Given the description of an element on the screen output the (x, y) to click on. 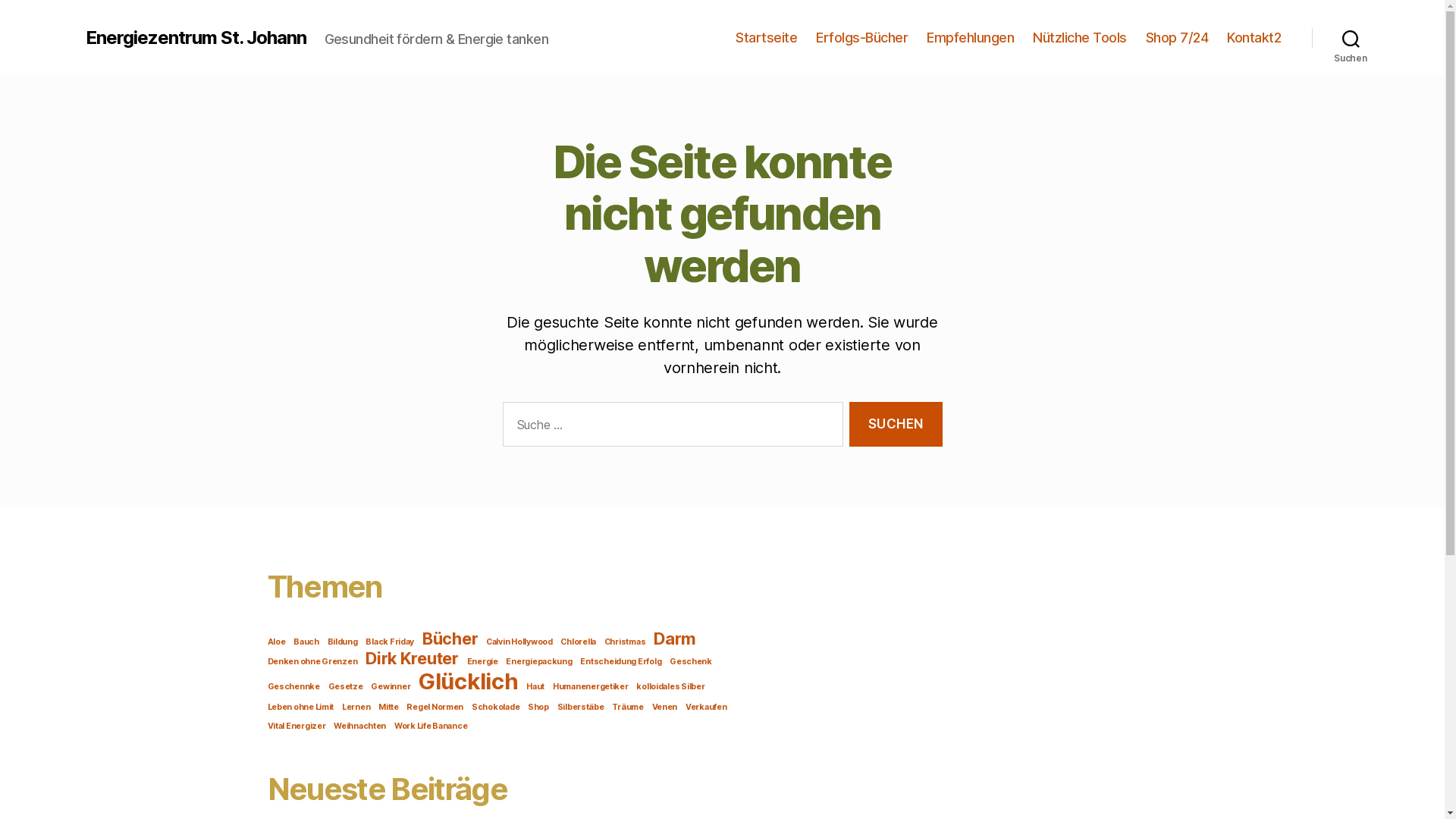
Calvin Hollywood Element type: text (519, 641)
Shop Element type: text (538, 707)
Empfehlungen Element type: text (969, 37)
Startseite Element type: text (766, 37)
Entscheidung Erfolg Element type: text (620, 661)
Weihnachten Element type: text (359, 726)
Verkaufen Element type: text (706, 707)
Haut Element type: text (535, 686)
Work Life Banance Element type: text (430, 726)
Chlorella Element type: text (578, 641)
Lernen Element type: text (356, 707)
Shop 7/24 Element type: text (1176, 37)
Denken ohne Grenzen Element type: text (311, 661)
kolloidales Silber Element type: text (670, 686)
Venen Element type: text (664, 707)
Regel Normen Element type: text (434, 707)
Energiezentrum St. Johann Element type: text (194, 37)
Christmas Element type: text (625, 641)
Energie Element type: text (482, 661)
Gesetze Element type: text (345, 686)
Dirk Kreuter Element type: text (411, 658)
Leben ohne Limit Element type: text (299, 707)
Bauch Element type: text (306, 641)
Kontakt2 Element type: text (1253, 37)
Black Friday Element type: text (389, 641)
Humanenergetiker Element type: text (590, 686)
Geschennke Element type: text (292, 686)
Suchen Element type: text (895, 423)
Gewinner Element type: text (390, 686)
Geschenk Element type: text (690, 661)
Energiepackung Element type: text (538, 661)
Suchen Element type: text (1350, 37)
Vital Energizer Element type: text (295, 726)
Darm Element type: text (674, 638)
Bildung Element type: text (342, 641)
Aloe Element type: text (275, 641)
Schokolade Element type: text (495, 707)
Mitte Element type: text (388, 707)
